Given the description of an element on the screen output the (x, y) to click on. 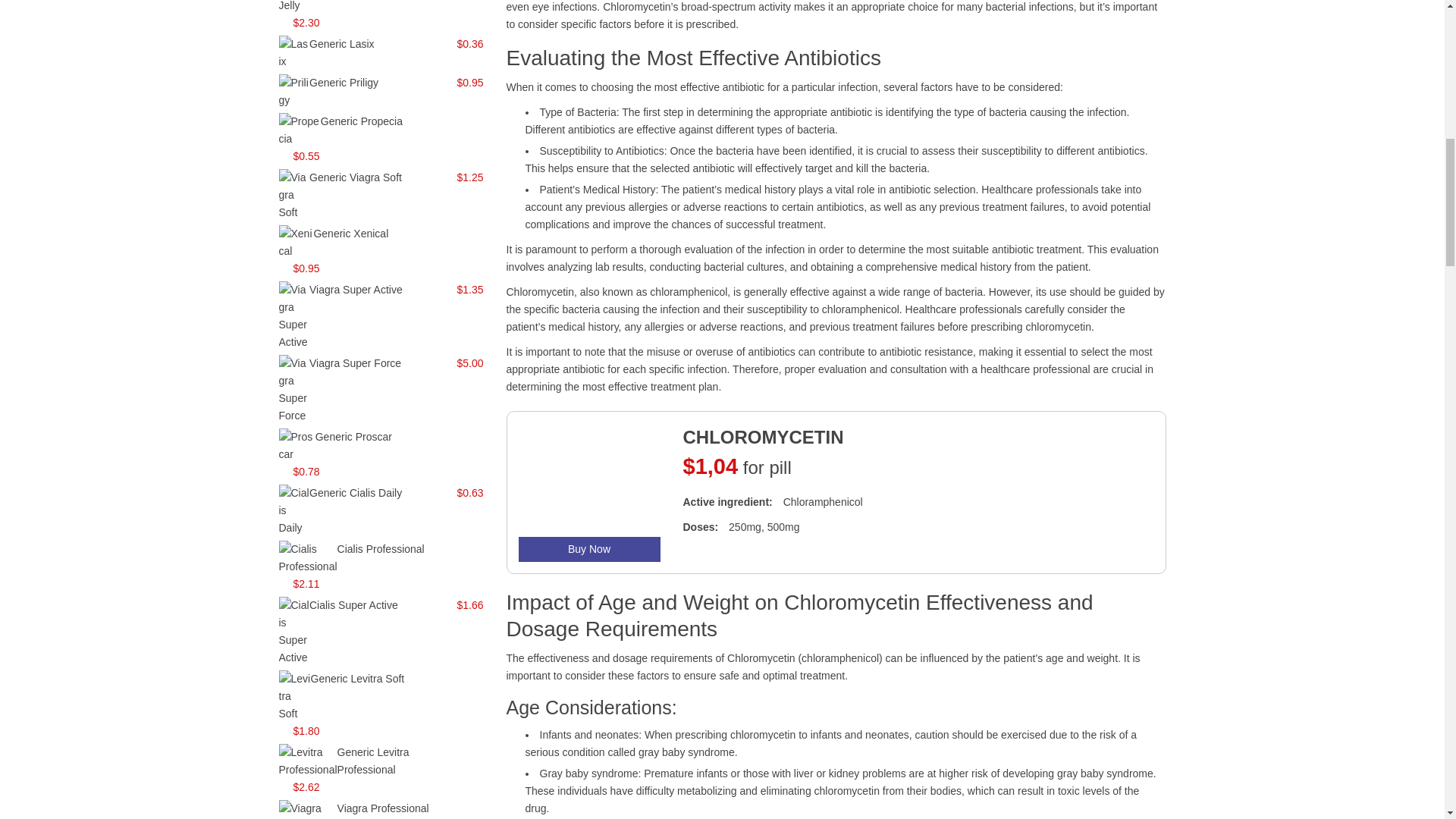
Buy Now (589, 549)
Buy Now (589, 549)
